Given the description of an element on the screen output the (x, y) to click on. 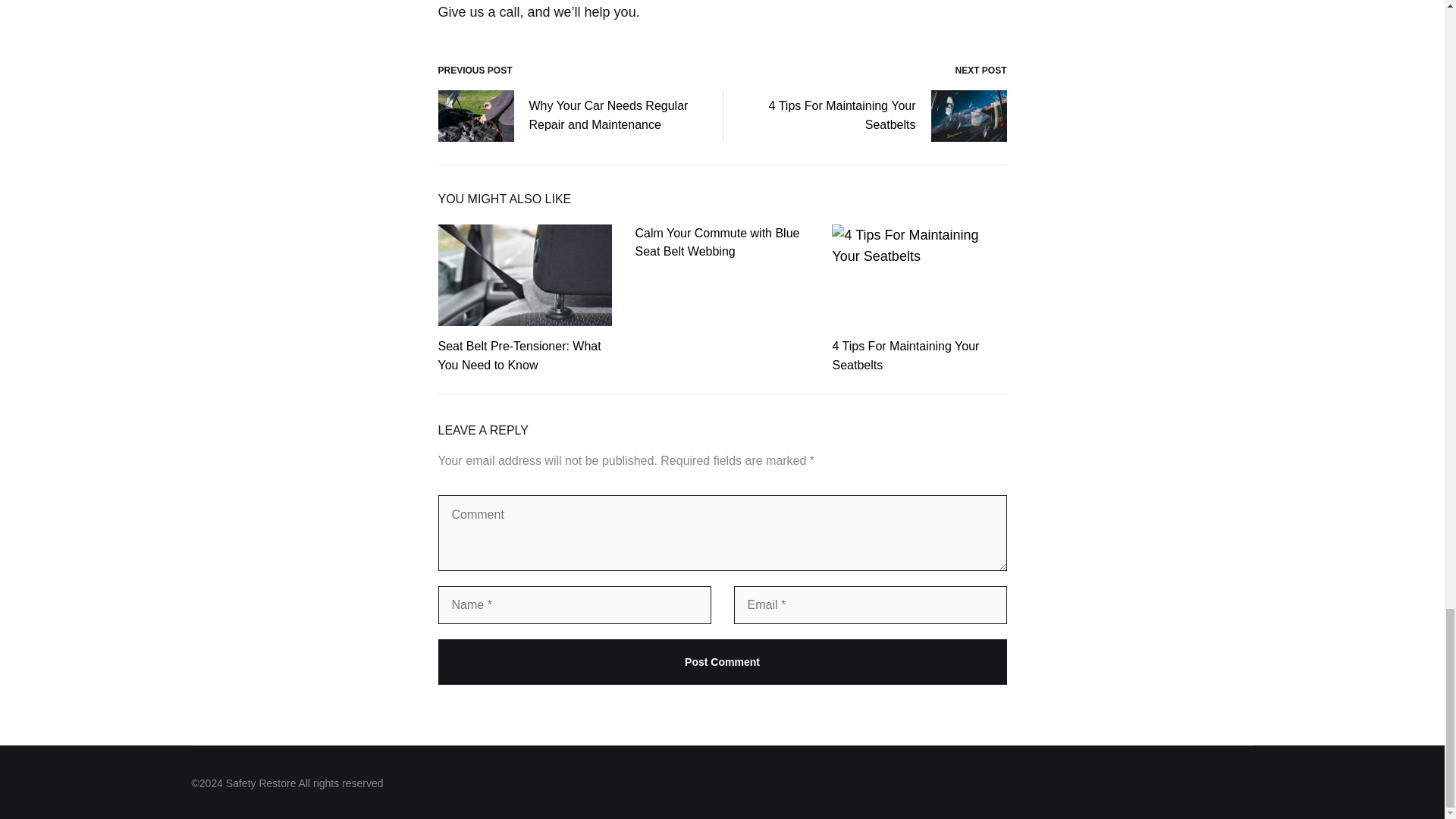
Calm Your Commute with Blue Seat Belt Webbing (716, 242)
4 Tips For Maintaining Your Seatbelts (904, 355)
Post Comment (722, 661)
Post Comment (722, 661)
Why Your Car Needs Regular Repair and Maintenance (569, 115)
Seat Belt Pre-Tensioner: What You Need to Know (519, 355)
4 Tips For Maintaining Your Seatbelts (876, 115)
